Given the description of an element on the screen output the (x, y) to click on. 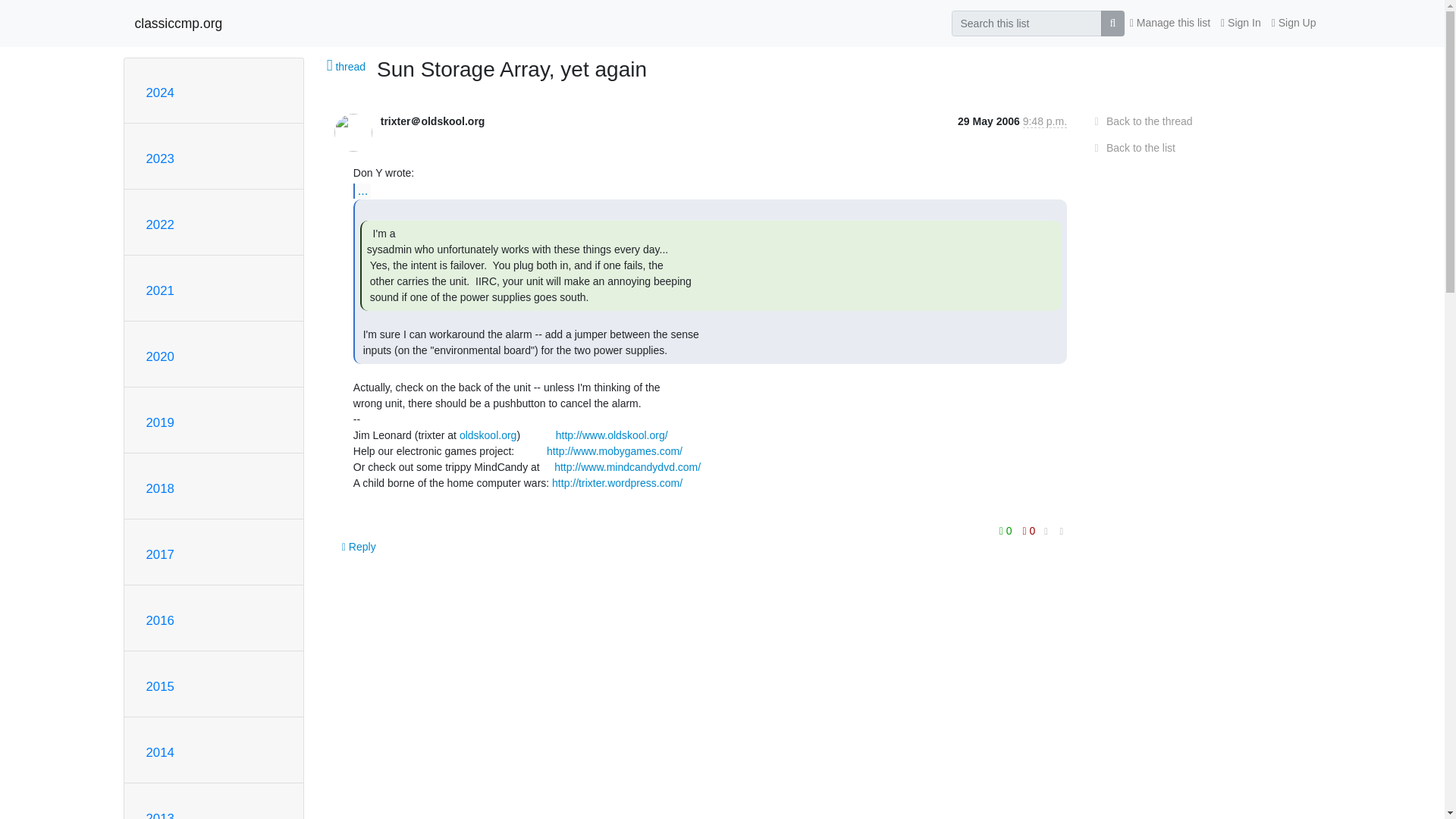
2023 (159, 158)
Sign in to reply online (359, 546)
Sender's time: May 29, 2006, 8:48 p.m. (1045, 121)
Sign In (1240, 22)
Manage this list (1169, 22)
2022 (159, 224)
You must be logged-in to vote. (1029, 530)
Sign Up (1294, 22)
You must be logged-in to vote. (1007, 530)
classiccmp.org (178, 22)
